Given the description of an element on the screen output the (x, y) to click on. 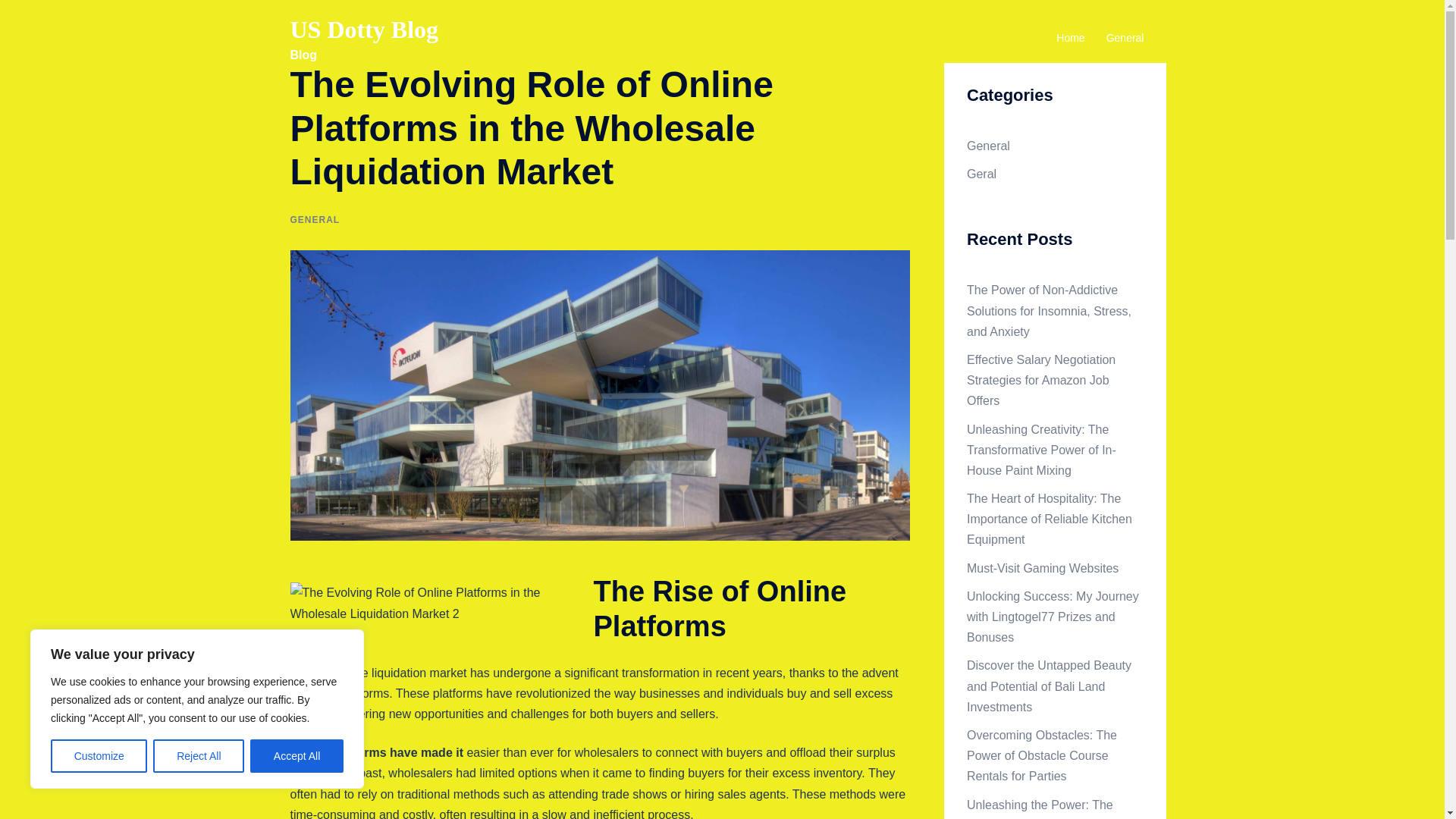
GENERAL (314, 219)
Accept All (296, 756)
Home (1070, 38)
Customize (98, 756)
General (988, 145)
Must-Visit Gaming Websites (1042, 567)
US Dotty Blog (363, 29)
